Given the description of an element on the screen output the (x, y) to click on. 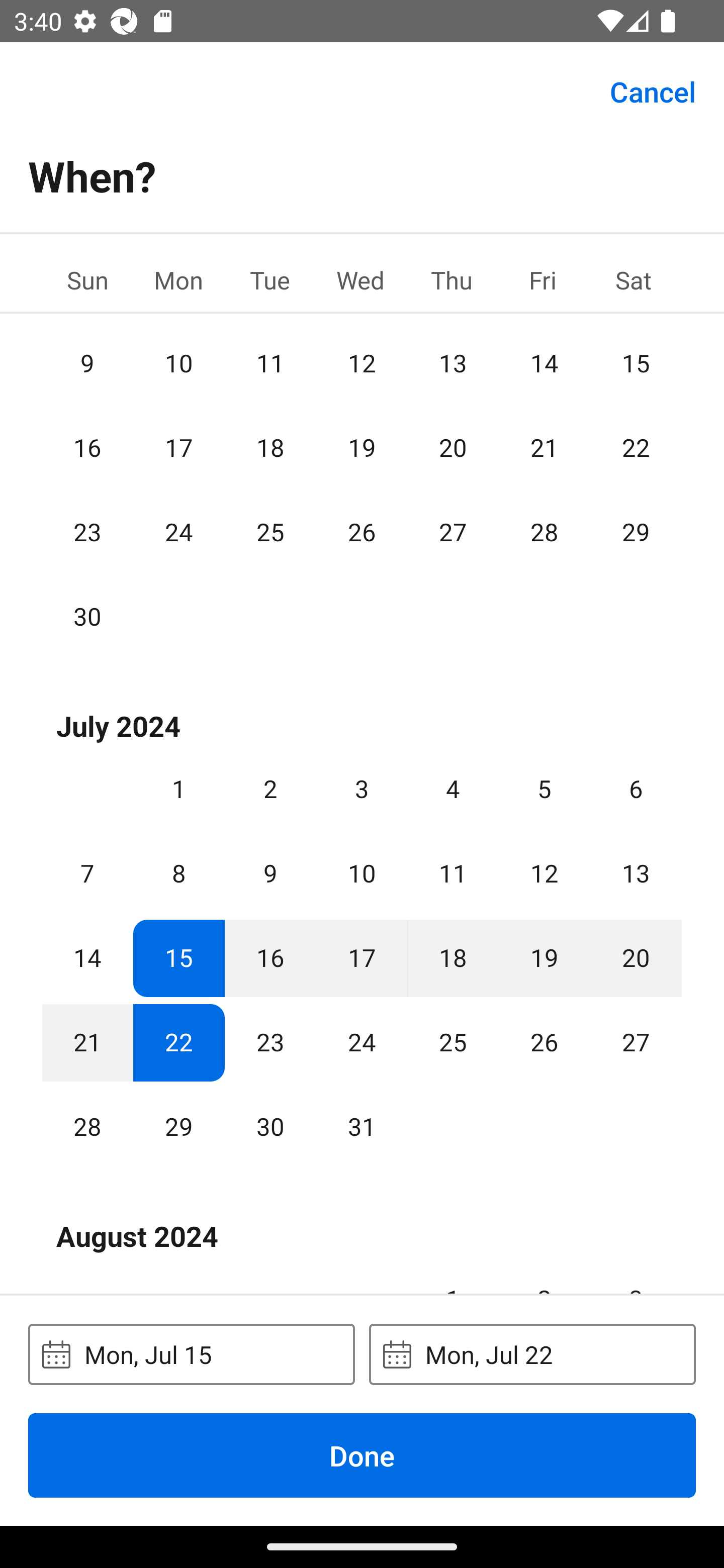
Cancel (652, 90)
Mon, Jul 15 (191, 1353)
Mon, Jul 22 (532, 1353)
Done (361, 1454)
